Given the description of an element on the screen output the (x, y) to click on. 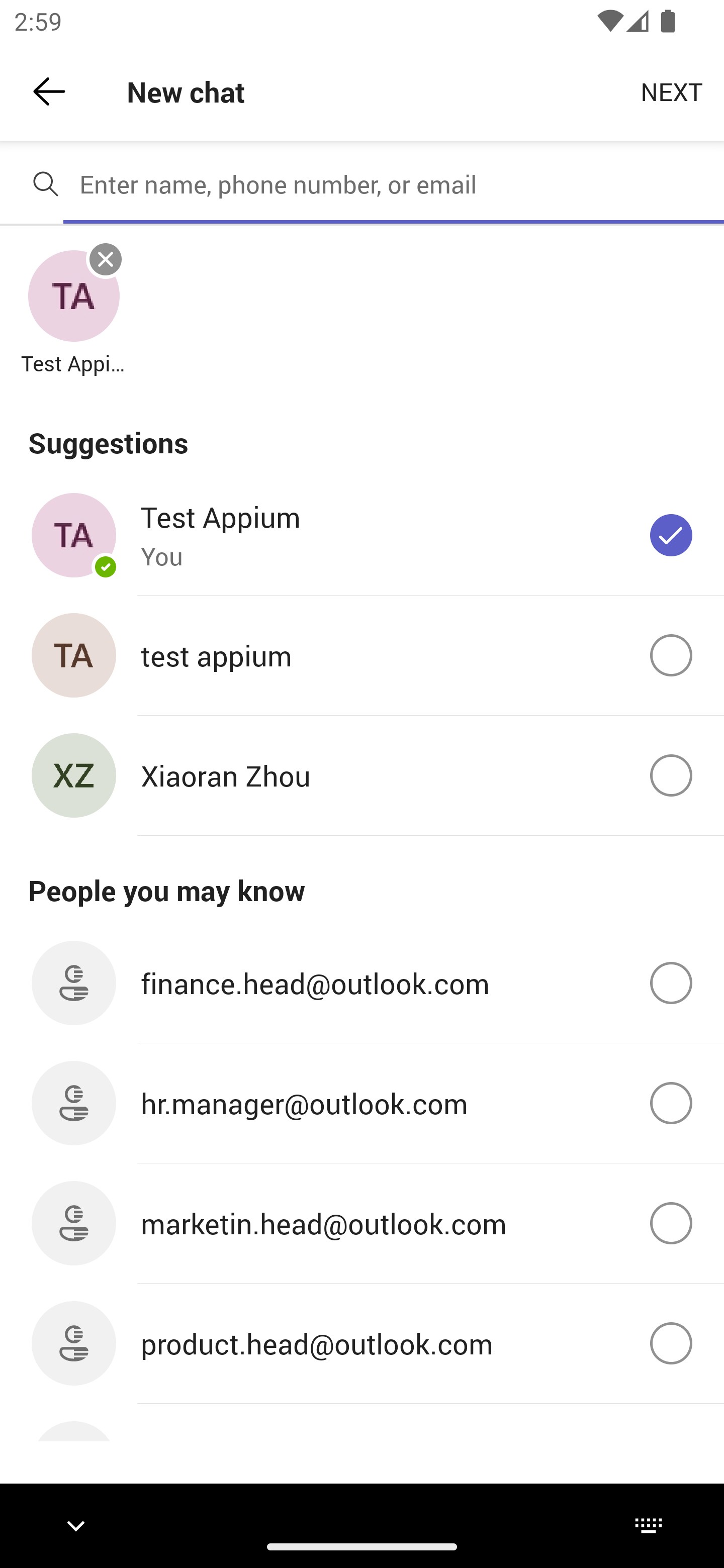
Back (49, 91)
NEXT (671, 90)
Enter name, phone number, or email (393, 184)
Remove (105, 259)
Test Appium profile picture (73, 295)
Suggestions section header Suggestions (362, 431)
